Given the description of an element on the screen output the (x, y) to click on. 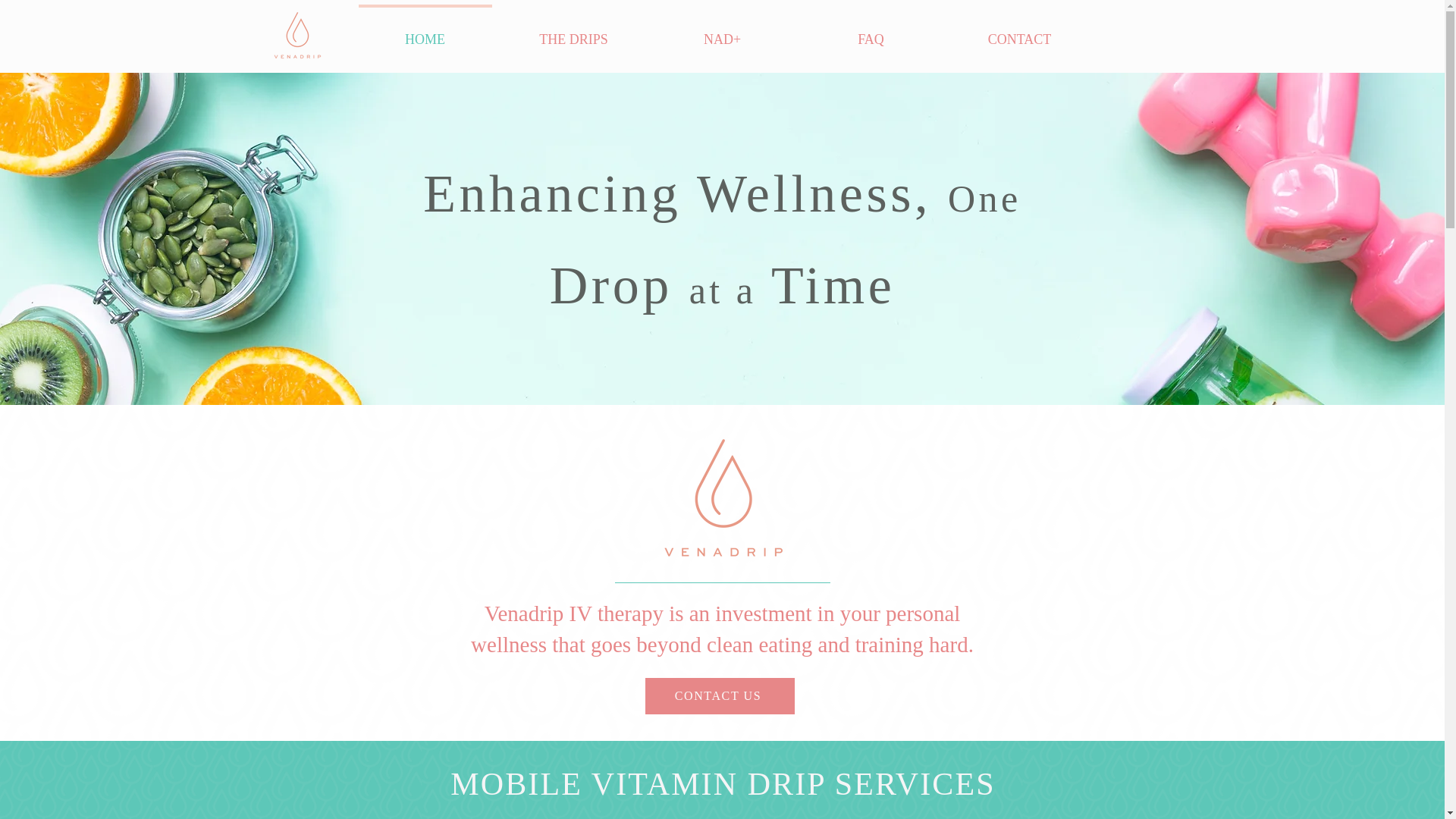
HOME (424, 32)
FAQ (870, 32)
CONTACT (1018, 32)
THE DRIPS (573, 32)
CONTACT US (719, 696)
